Given the description of an element on the screen output the (x, y) to click on. 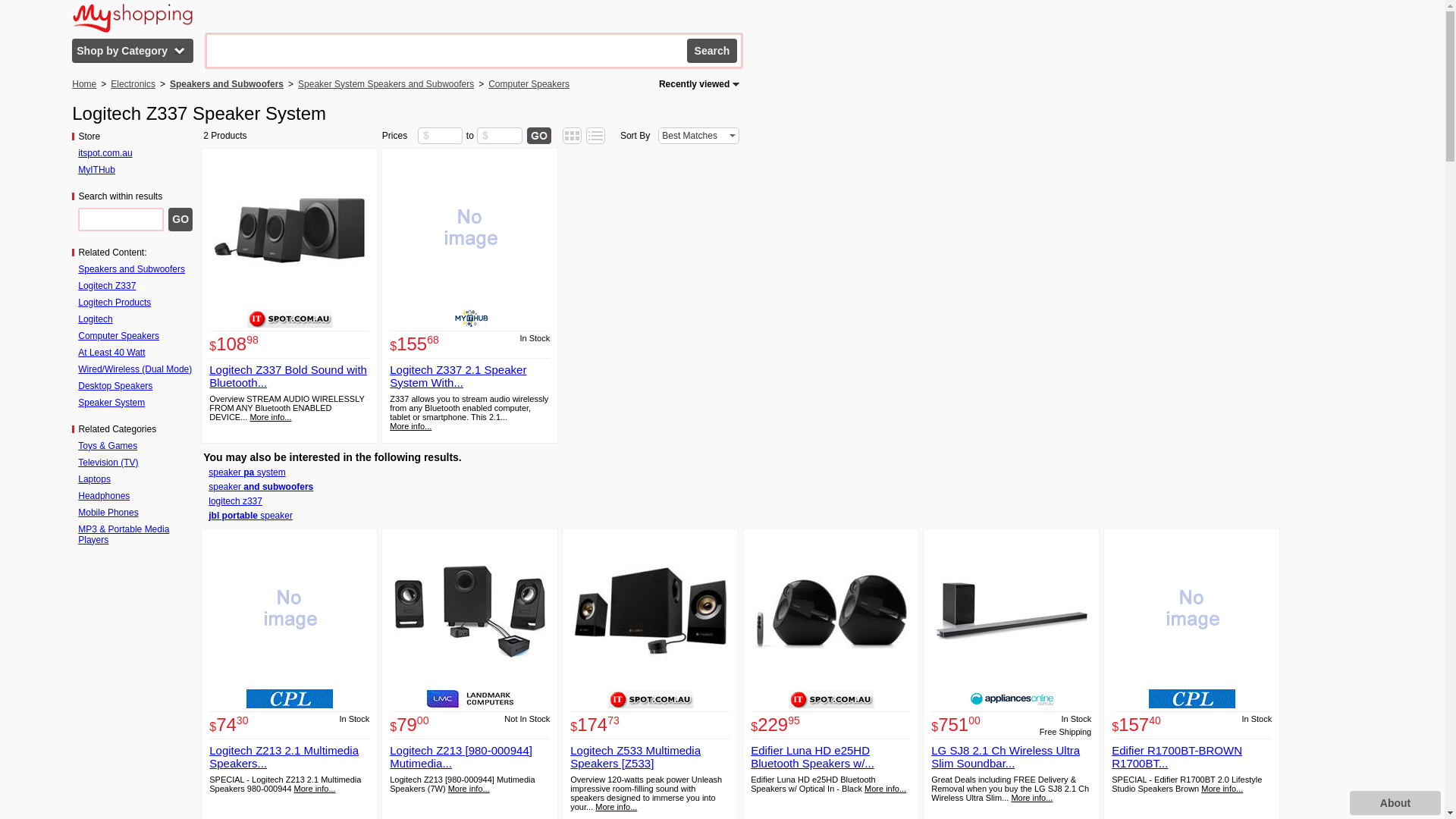
LG SJ8 2.1 Ch Wireless Ultra Slim Soundbar... Element type: text (1005, 756)
More info... Element type: text (1221, 788)
Computer Speakers Element type: text (118, 335)
Wired/Wireless (Dual Mode) Element type: text (134, 369)
Logitech Z337 Bold Sound with Bluetooth... Element type: text (288, 376)
$22995 Element type: text (775, 727)
At Least 40 Watt Element type: text (111, 352)
Speaker System Element type: text (111, 402)
speaker pa system Element type: text (246, 472)
$75100 Element type: text (955, 727)
MP3 & Portable Media Players Element type: text (123, 534)
Television (TV) Element type: text (108, 462)
Logitech Products Element type: text (114, 302)
$10898 Element type: text (233, 347)
logitech z337 Element type: text (235, 500)
Logitech Z213 [980-000944] Mutimedia... Element type: text (460, 756)
Edifier Luna HD e25HD Bluetooth Speakers w/... Element type: text (812, 756)
More info... Element type: text (885, 788)
Toys & Games Element type: text (107, 445)
Recently viewed Element type: text (698, 83)
$15568 Element type: text (414, 347)
Home Element type: text (84, 83)
Speakers and Subwoofers Element type: text (226, 83)
Logitech Z337 Element type: text (106, 285)
Laptops Element type: text (94, 478)
More info... Element type: text (1031, 797)
List View Element type: hover (595, 140)
More info... Element type: text (410, 425)
Computer Speakers Element type: text (528, 83)
$15740 Element type: text (1136, 727)
Logitech Z337 2.1 Speaker System With... Element type: text (457, 376)
$17473 Element type: text (594, 727)
Shop by Category Element type: text (134, 50)
More info... Element type: text (270, 416)
speaker and subwoofers Element type: text (260, 486)
jbl portable speaker Element type: text (250, 515)
Search Element type: text (712, 59)
GO Element type: text (180, 227)
MyITHub Element type: text (96, 169)
Logitech Z533 Multimedia Speakers [Z533] Element type: text (635, 756)
More info... Element type: text (314, 788)
itspot.com.au Element type: text (104, 152)
More info... Element type: text (616, 806)
Speakers and Subwoofers Element type: text (131, 268)
Logitech Element type: text (95, 318)
$7430 Element type: text (228, 727)
Mobile Phones Element type: text (108, 512)
More info... Element type: text (468, 788)
Headphones Element type: text (103, 495)
Edifier R1700BT-BROWN R1700BT... Element type: text (1176, 756)
$7900 Element type: text (408, 727)
Electronics Element type: text (132, 83)
Speaker System Speakers and Subwoofers Element type: text (385, 83)
Logitech Z213 2.1 Multimedia Speakers... Element type: text (283, 756)
About Element type: text (1394, 802)
Tile View Element type: hover (571, 140)
Desktop Speakers Element type: text (115, 385)
